Given the description of an element on the screen output the (x, y) to click on. 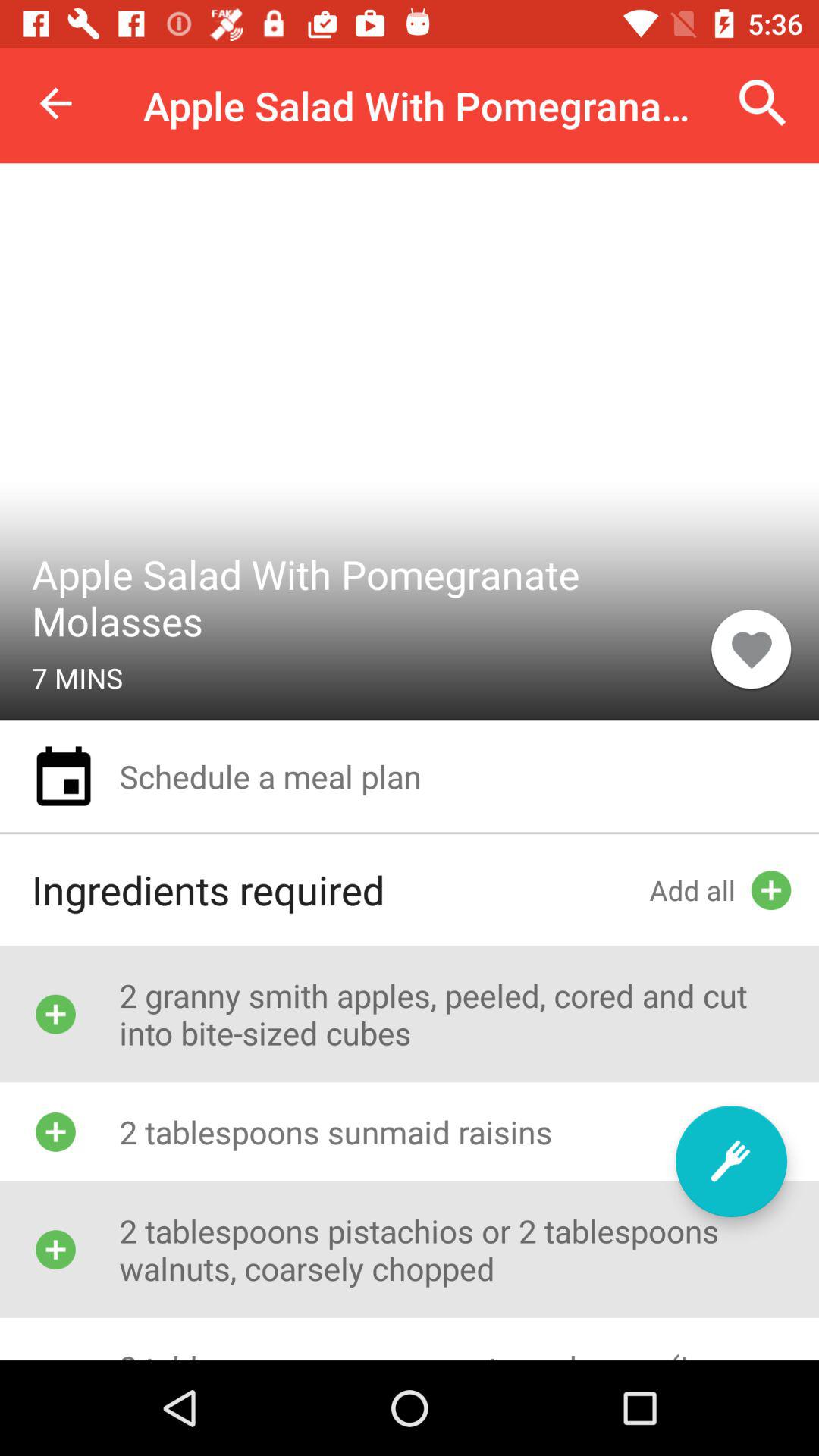
turn off the item at the top right corner (763, 103)
